Given the description of an element on the screen output the (x, y) to click on. 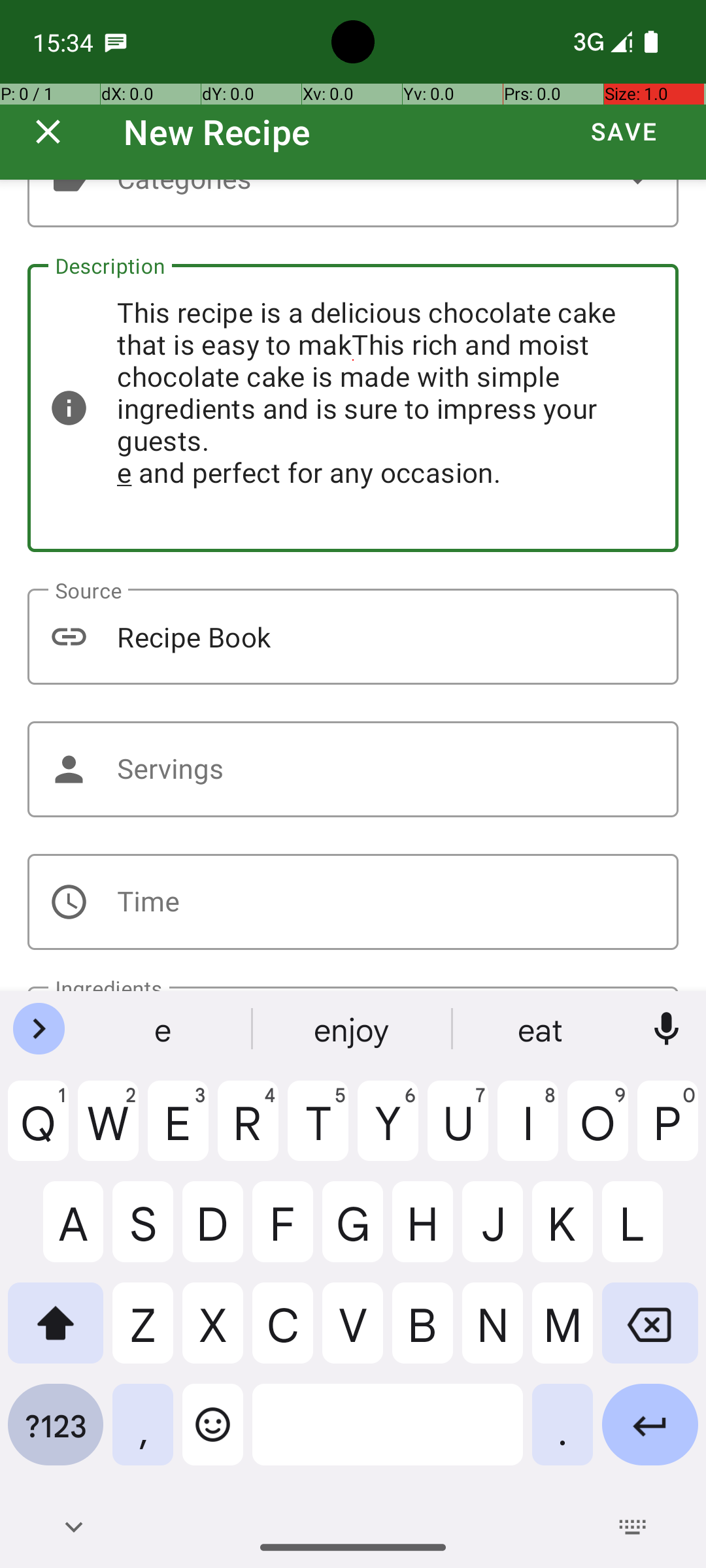
This recipe is a delicious chocolate cake that is easy to makThis rich and moist chocolate cake is made with simple ingredients and is sure to impress your guests.
e and perfect for any occasion.
 Element type: android.widget.EditText (352, 407)
Recipe Book Element type: android.widget.EditText (352, 636)
2 cups of all-purpose flour, 1 cup of sugar, 1 teaspoon of baking powder,
 Element type: android.widget.EditText (352, 988)
enjoy Element type: android.widget.FrameLayout (352, 1028)
eat Element type: android.widget.FrameLayout (541, 1028)
